Given the description of an element on the screen output the (x, y) to click on. 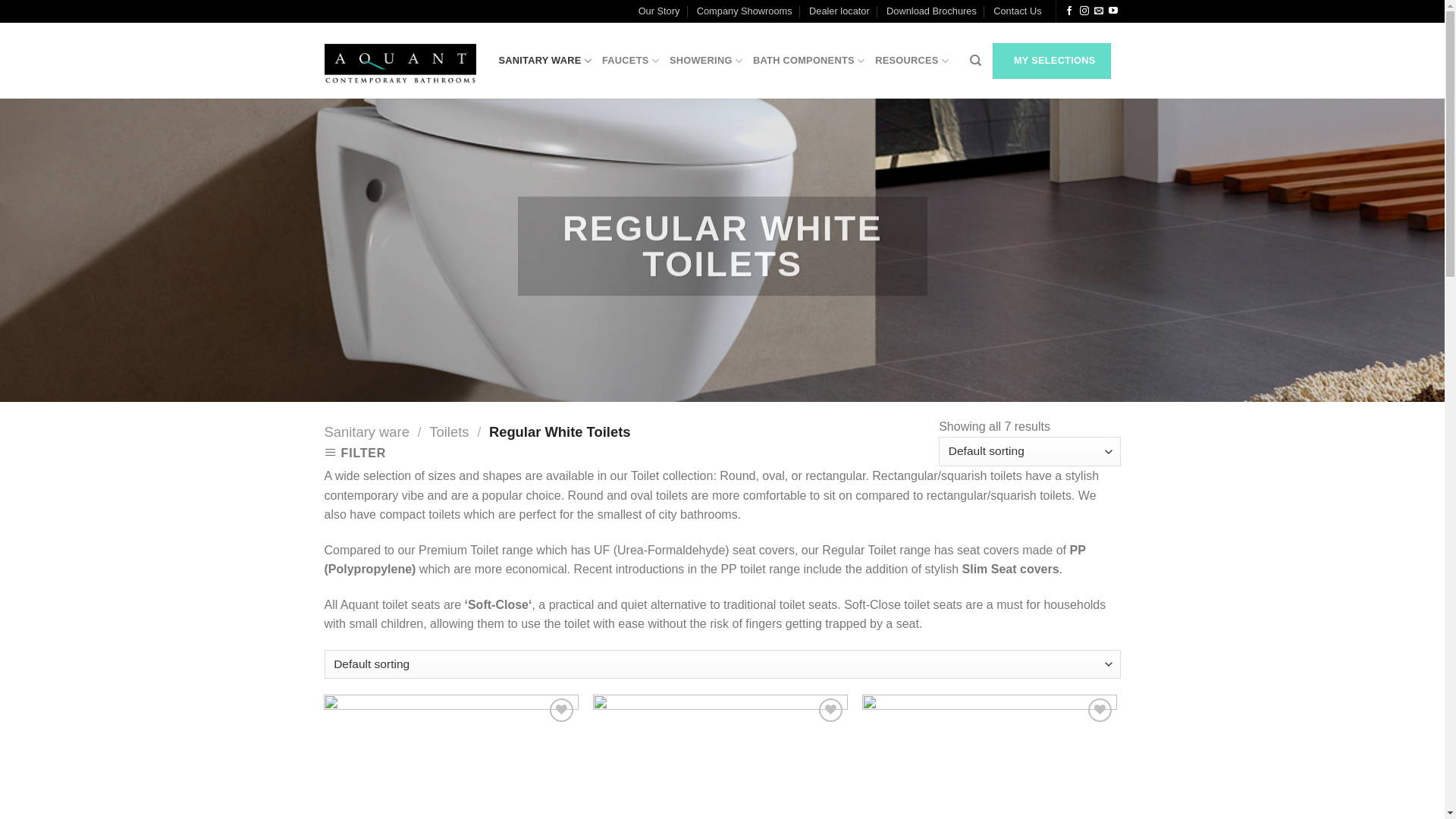
MY SELECTIONS Element type: text (1051, 60)
Dealer locator Element type: text (839, 11)
Send us an email Element type: hover (1098, 11)
Our Story Element type: text (659, 11)
Sanitary ware Element type: text (366, 431)
SANITARY WARE Element type: text (544, 60)
RESOURCES Element type: text (911, 60)
Contact Us Element type: text (1017, 11)
Company Showrooms Element type: text (744, 11)
Aquant - Contemporary Bathrooms Element type: hover (400, 60)
FAUCETS Element type: text (630, 60)
Download Brochures Element type: text (931, 11)
BATH COMPONENTS Element type: text (808, 60)
FILTER Element type: text (357, 452)
Follow on Instagram Element type: hover (1083, 11)
SHOWERING Element type: text (705, 60)
Follow on Facebook Element type: hover (1068, 11)
Toilets Element type: text (448, 431)
Follow on YouTube Element type: hover (1112, 11)
